Given the description of an element on the screen output the (x, y) to click on. 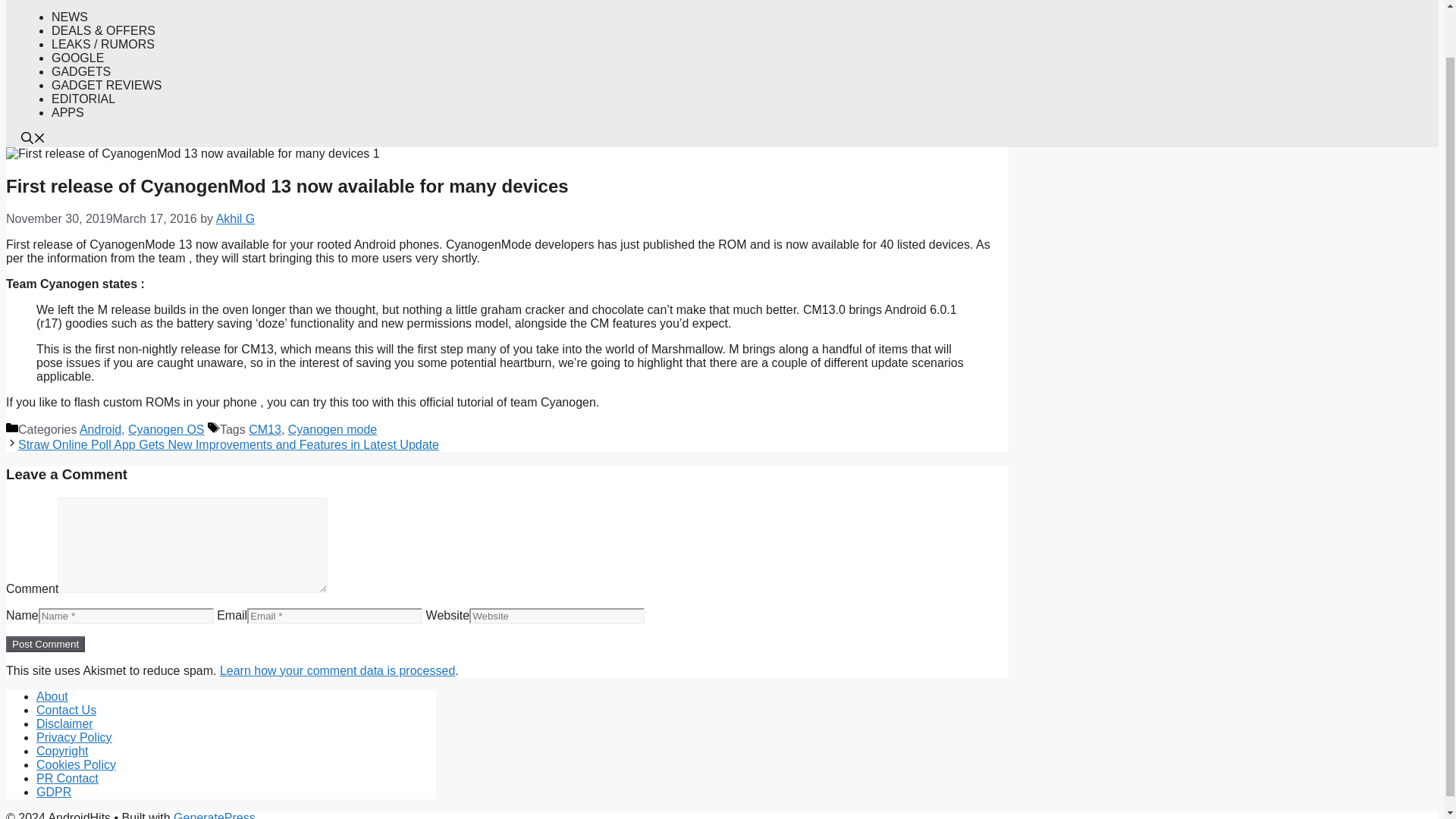
GADGETS (80, 71)
Cyanogen mode (332, 429)
Post Comment (44, 643)
Contact Us (66, 709)
Cookies Policy (76, 764)
EDITORIAL (82, 98)
About (52, 696)
GOOGLE (76, 57)
GDPR (53, 791)
